Given the description of an element on the screen output the (x, y) to click on. 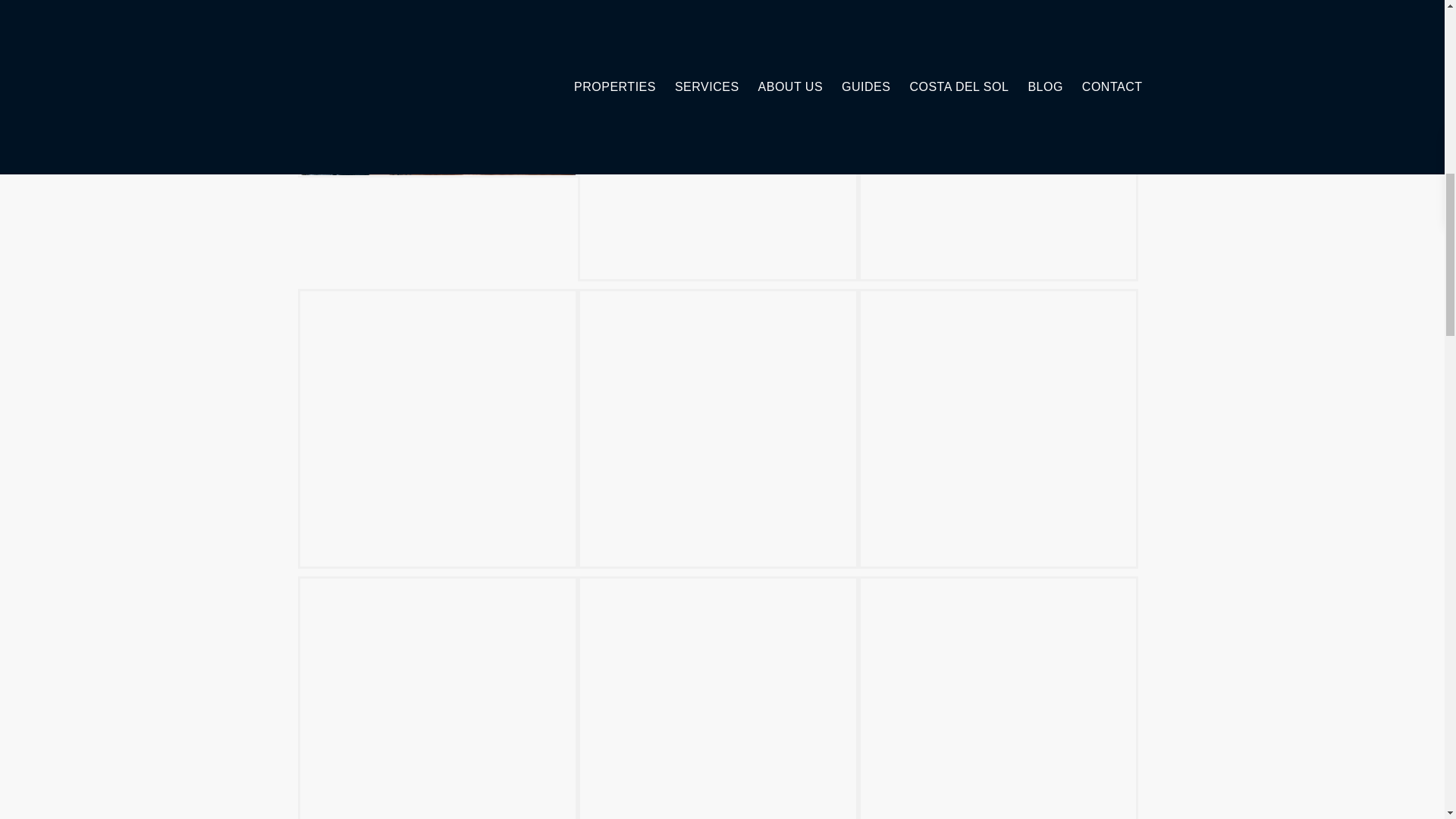
Bon Air, Casares (998, 429)
Bon Air, Casares (718, 697)
Bon Air, Casares (998, 140)
Bon Air, Casares (718, 429)
Bon Air, Casares (998, 697)
Bon Air, Casares (718, 140)
Bon Air, Casares (437, 429)
Bon Air, Casares (437, 697)
Bon Air, Casares (437, 88)
